Given the description of an element on the screen output the (x, y) to click on. 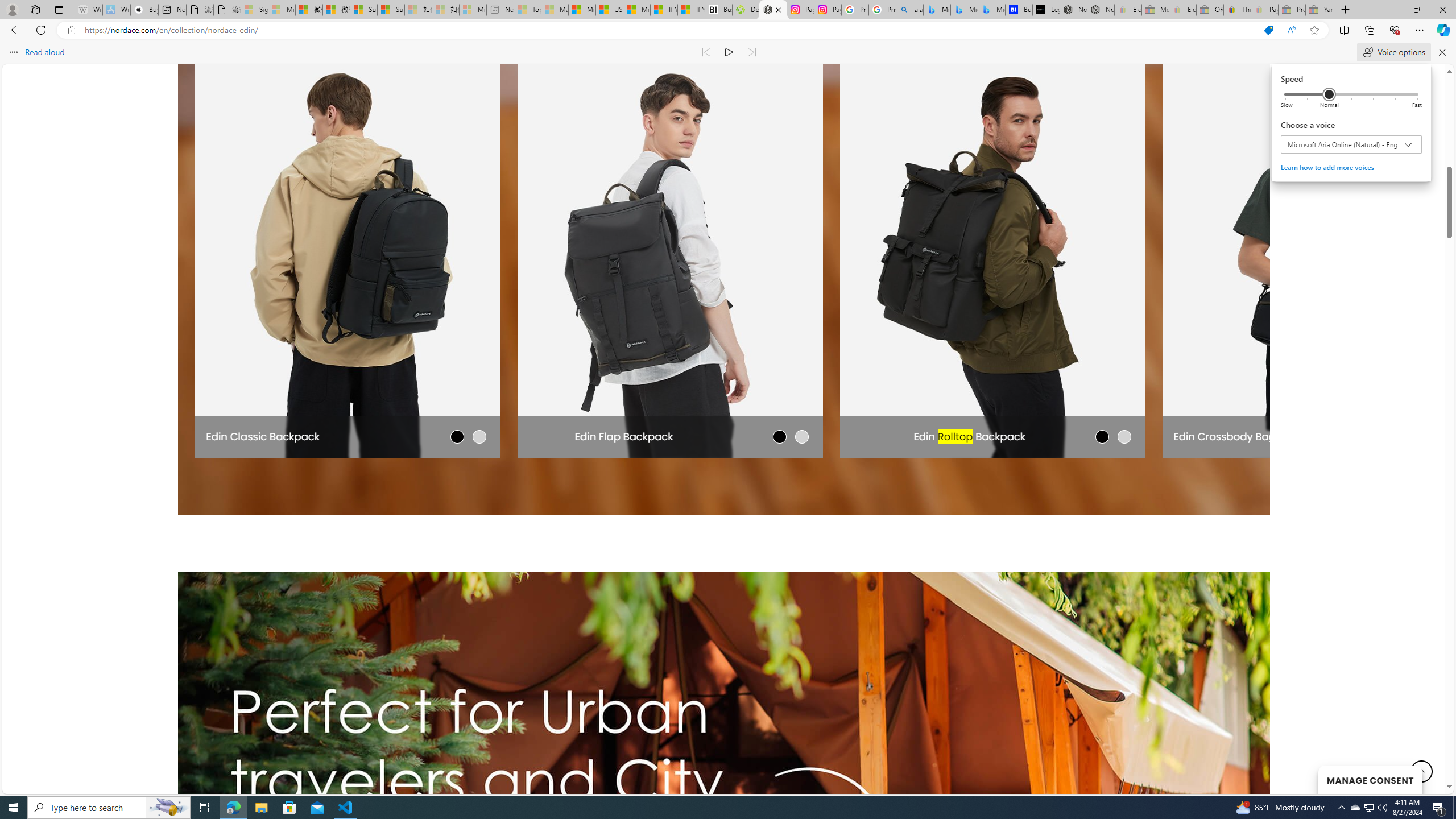
Threats and offensive language policy | eBay (1236, 9)
Class: flickity-button-icon (1221, 248)
MANAGE CONSENT (1369, 779)
Edin Classic Backpack (262, 436)
Read next paragraph (750, 52)
Next (1221, 248)
Continue to read aloud (Ctrl+Shift+U) (729, 52)
Press Room - eBay Inc. - Sleeping (1292, 9)
Previous (1368, 807)
